Given the description of an element on the screen output the (x, y) to click on. 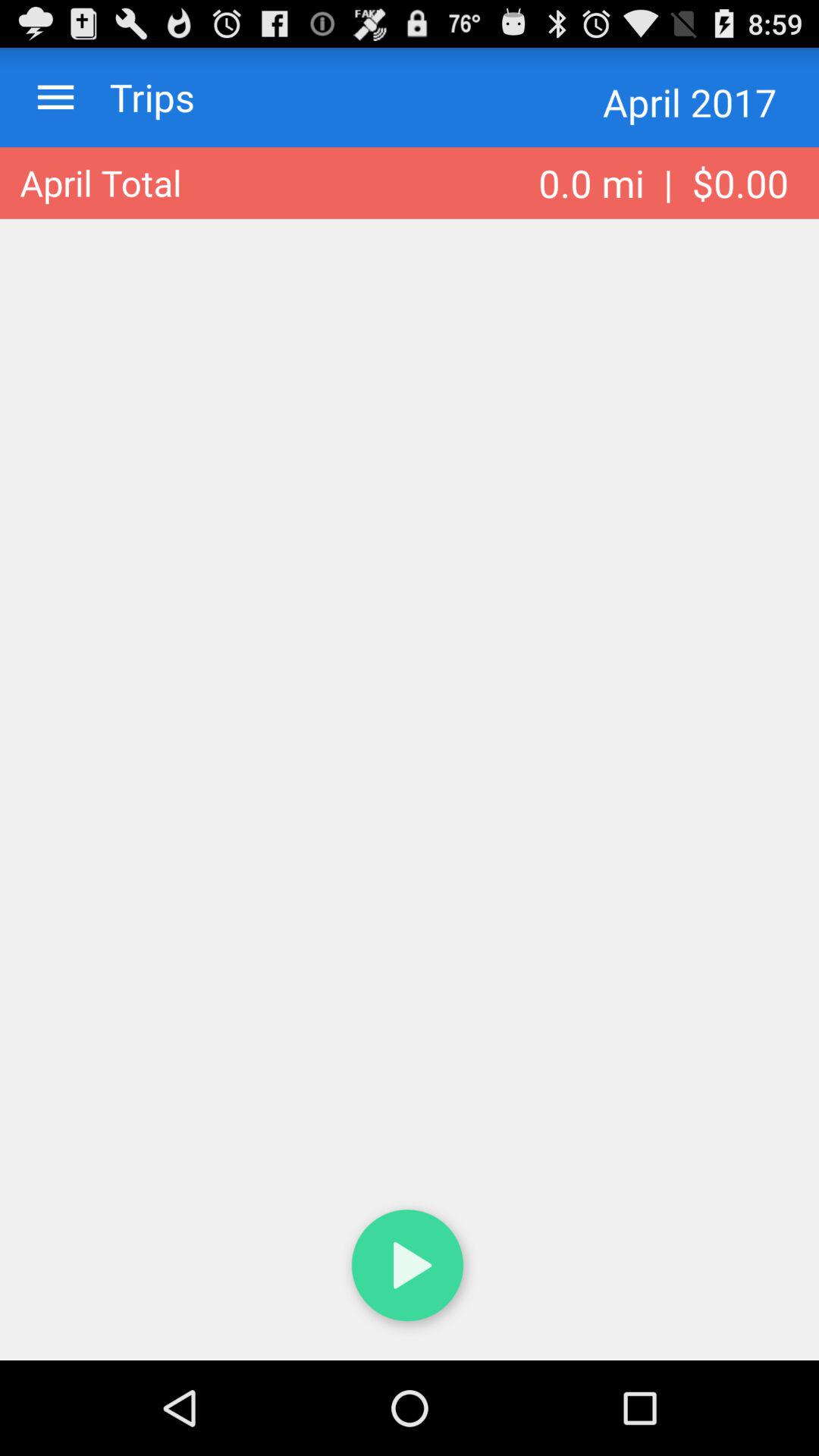
open the item to the right of april total icon (663, 182)
